Given the description of an element on the screen output the (x, y) to click on. 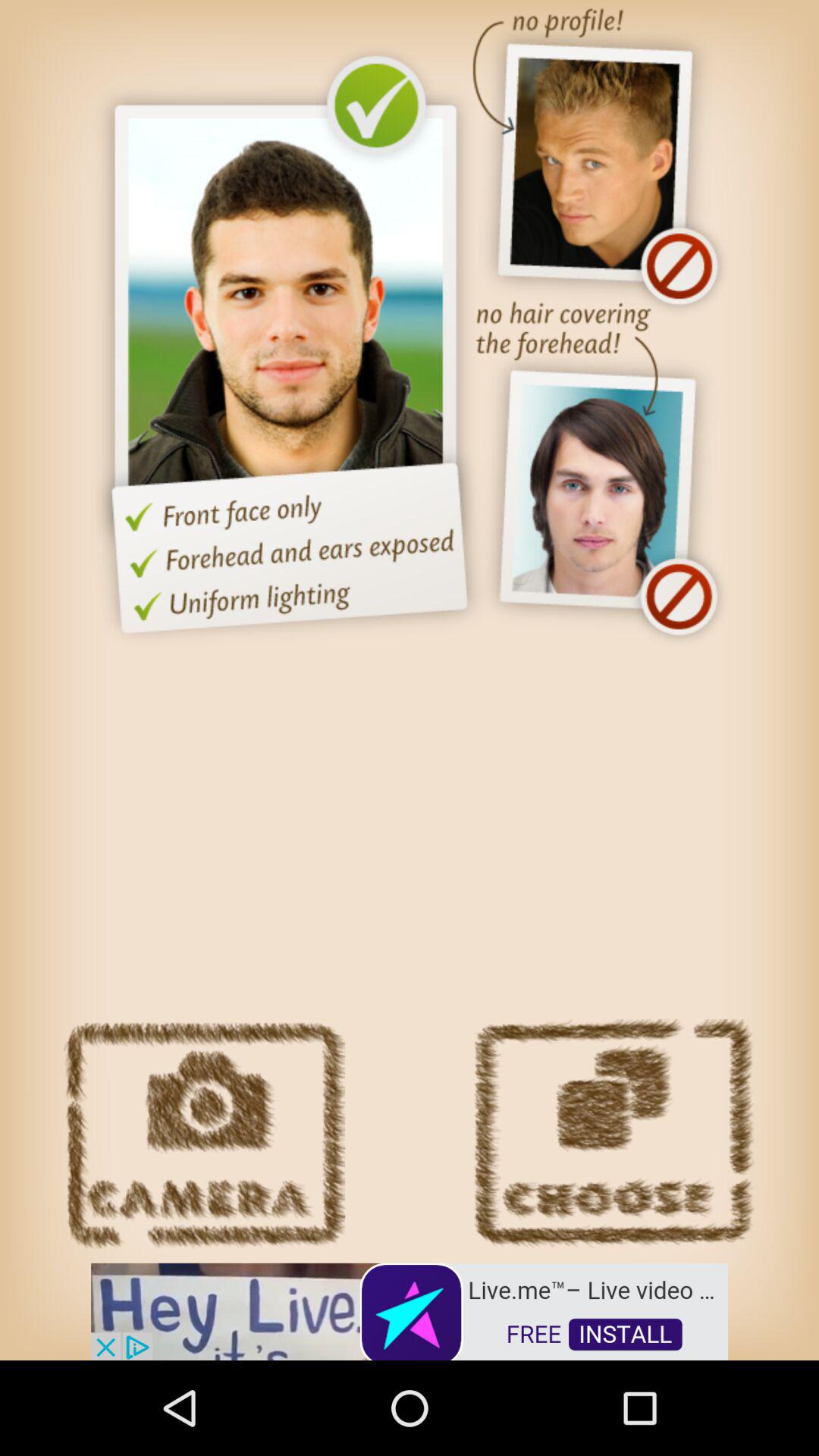
access camera (204, 1133)
